Given the description of an element on the screen output the (x, y) to click on. 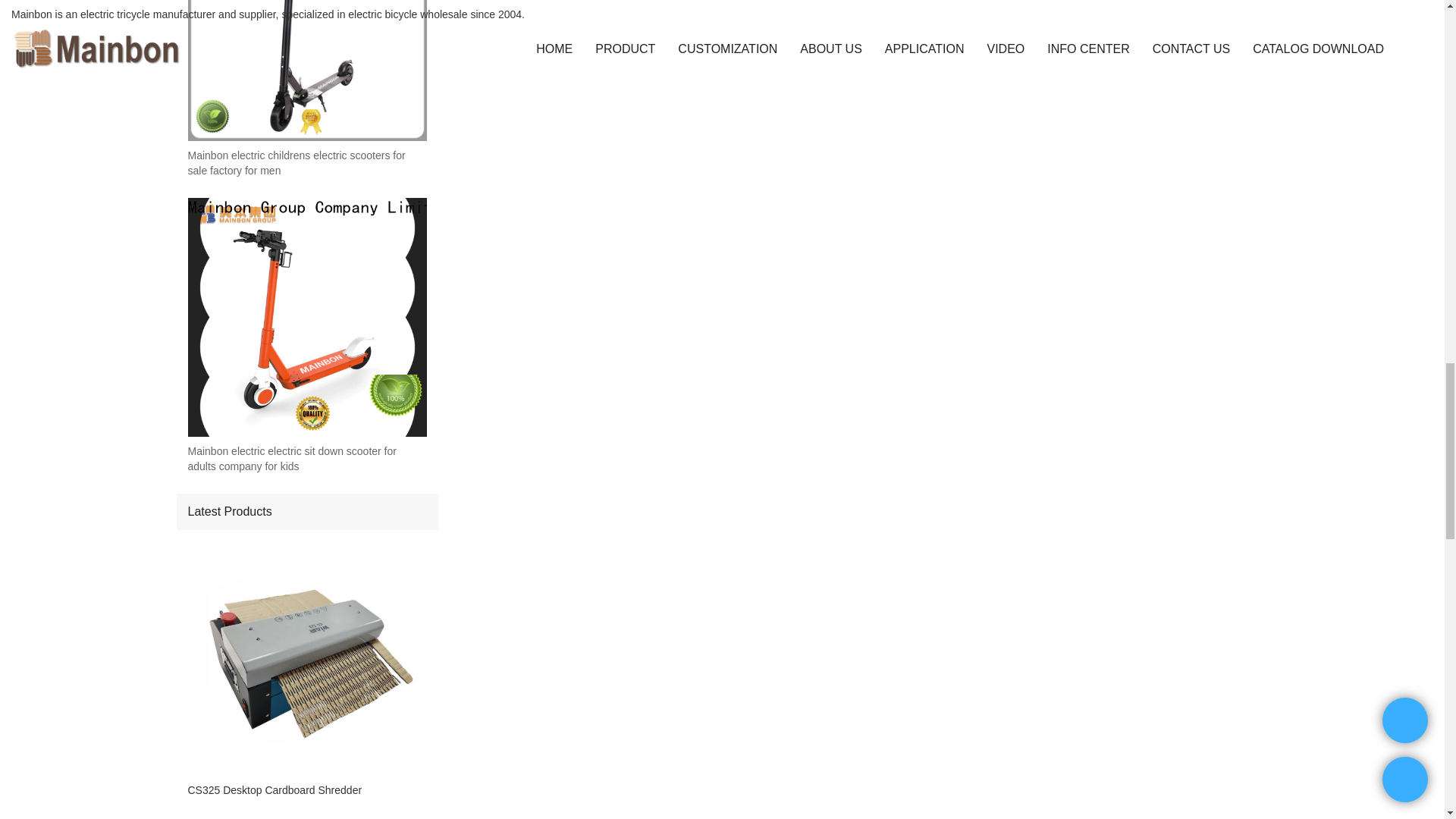
CS325 Desktop Cardboard Shredder (306, 790)
